Given the description of an element on the screen output the (x, y) to click on. 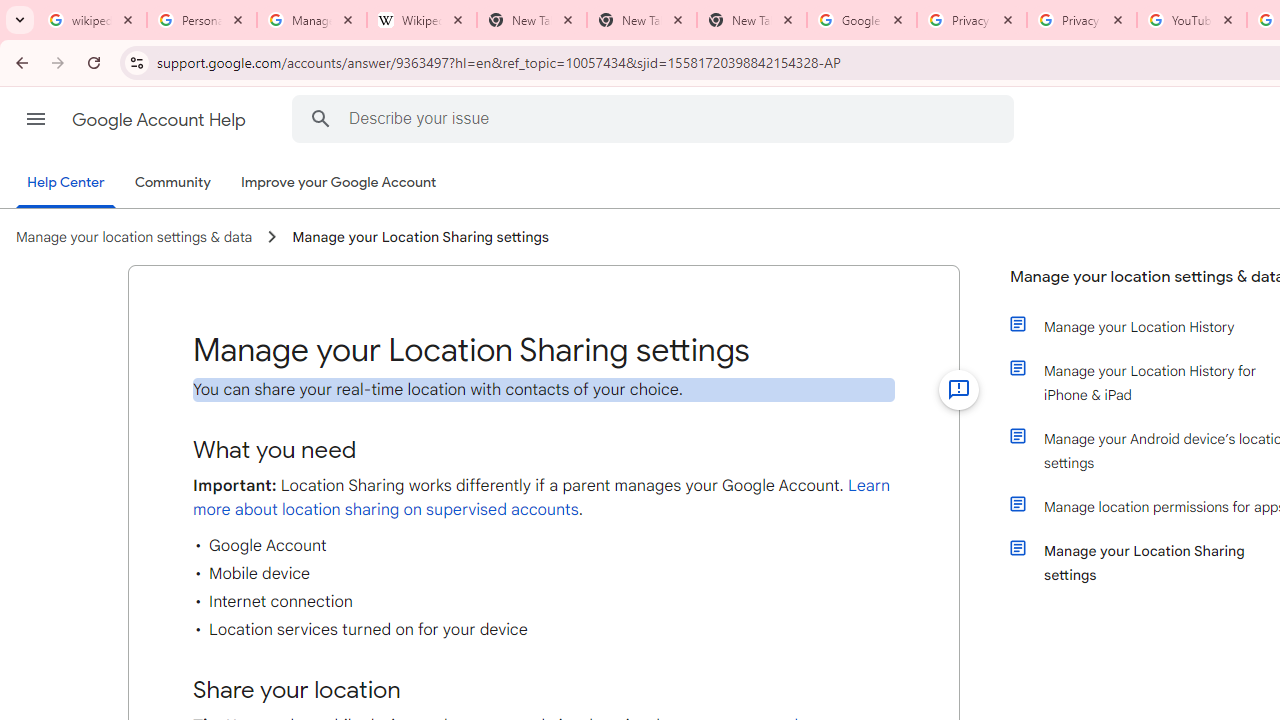
Describe your issue (655, 118)
Manage your location settings & data (134, 237)
Search Help Center (320, 118)
YouTube (1191, 20)
Personalization & Google Search results - Google Search Help (202, 20)
Manage your Location History - Google Search Help (312, 20)
Manage your Location Sharing settings (420, 237)
